Given the description of an element on the screen output the (x, y) to click on. 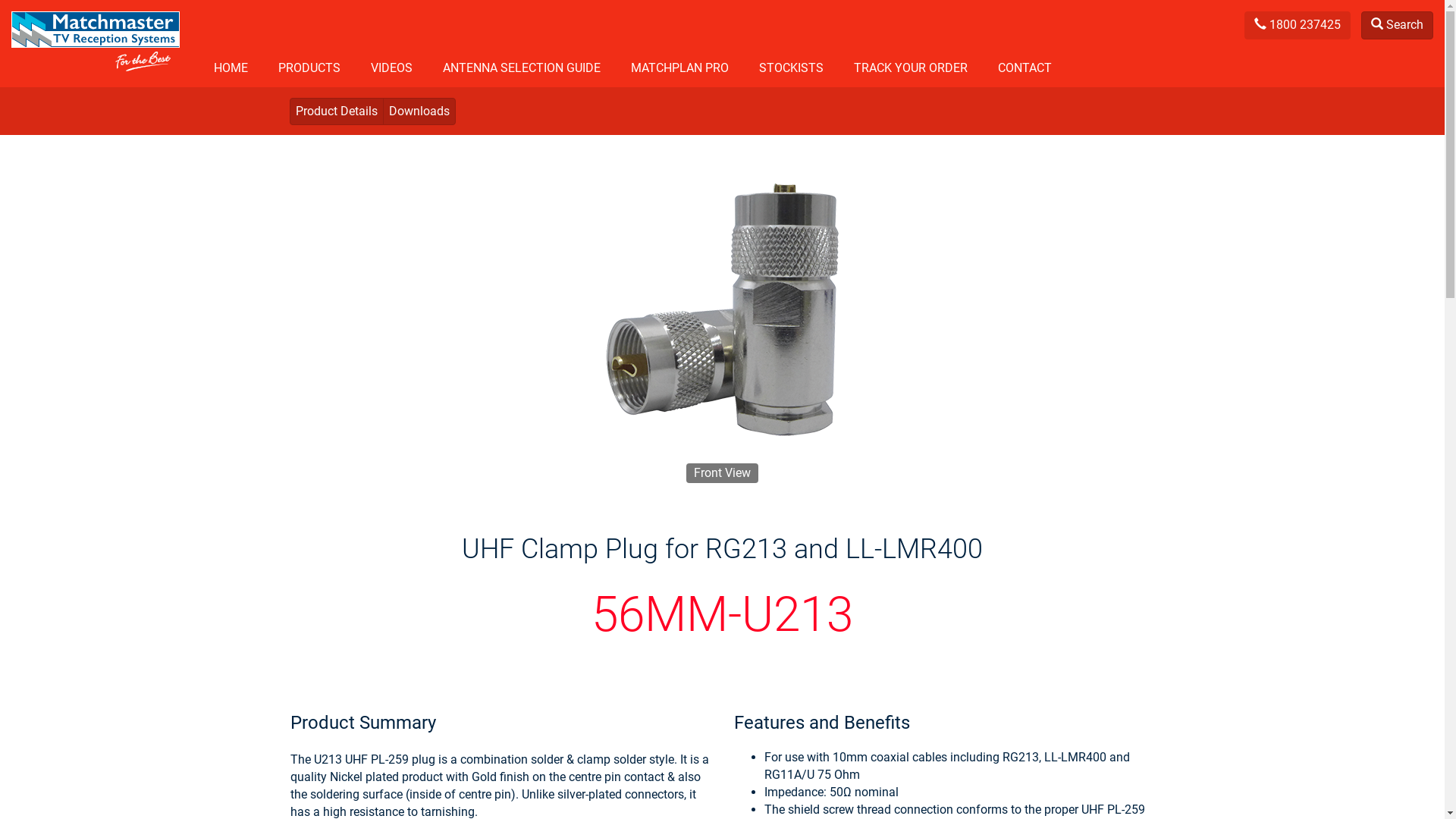
MATCHPLAN PRO Element type: text (679, 70)
STOCKISTS Element type: text (791, 70)
HOME Element type: text (230, 70)
CONTACT Element type: text (1024, 70)
PRODUCTS Element type: text (309, 70)
1800 237425 Element type: text (1298, 24)
ANTENNA SELECTION GUIDE Element type: text (521, 70)
Product Details Element type: text (336, 111)
Downloads Element type: text (418, 111)
Search Element type: text (1397, 25)
1800 237425 Element type: text (1297, 25)
VIDEOS Element type: text (391, 70)
TRACK YOUR ORDER Element type: text (910, 70)
